Given the description of an element on the screen output the (x, y) to click on. 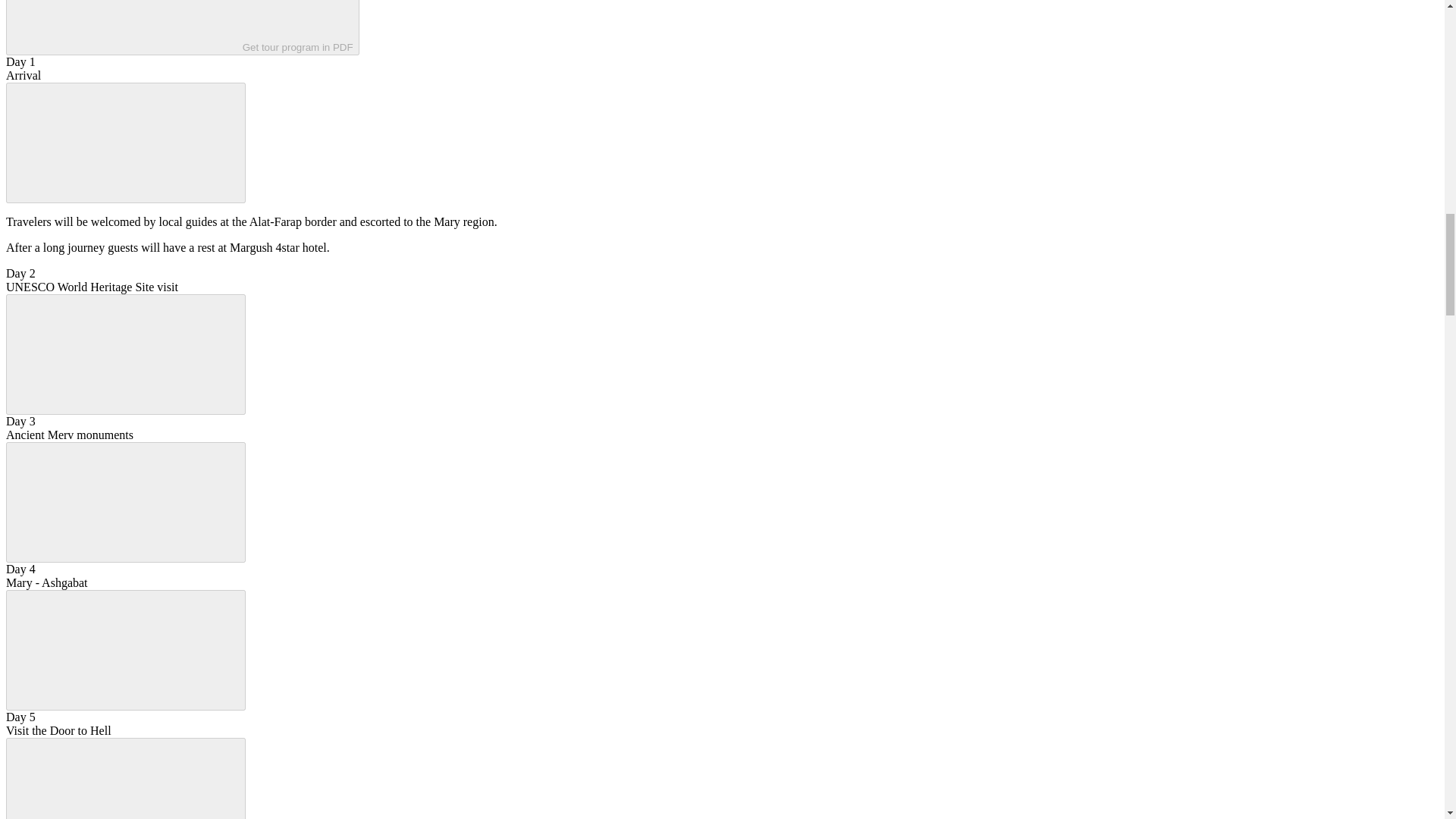
Get tour program in PDF (182, 27)
